Given the description of an element on the screen output the (x, y) to click on. 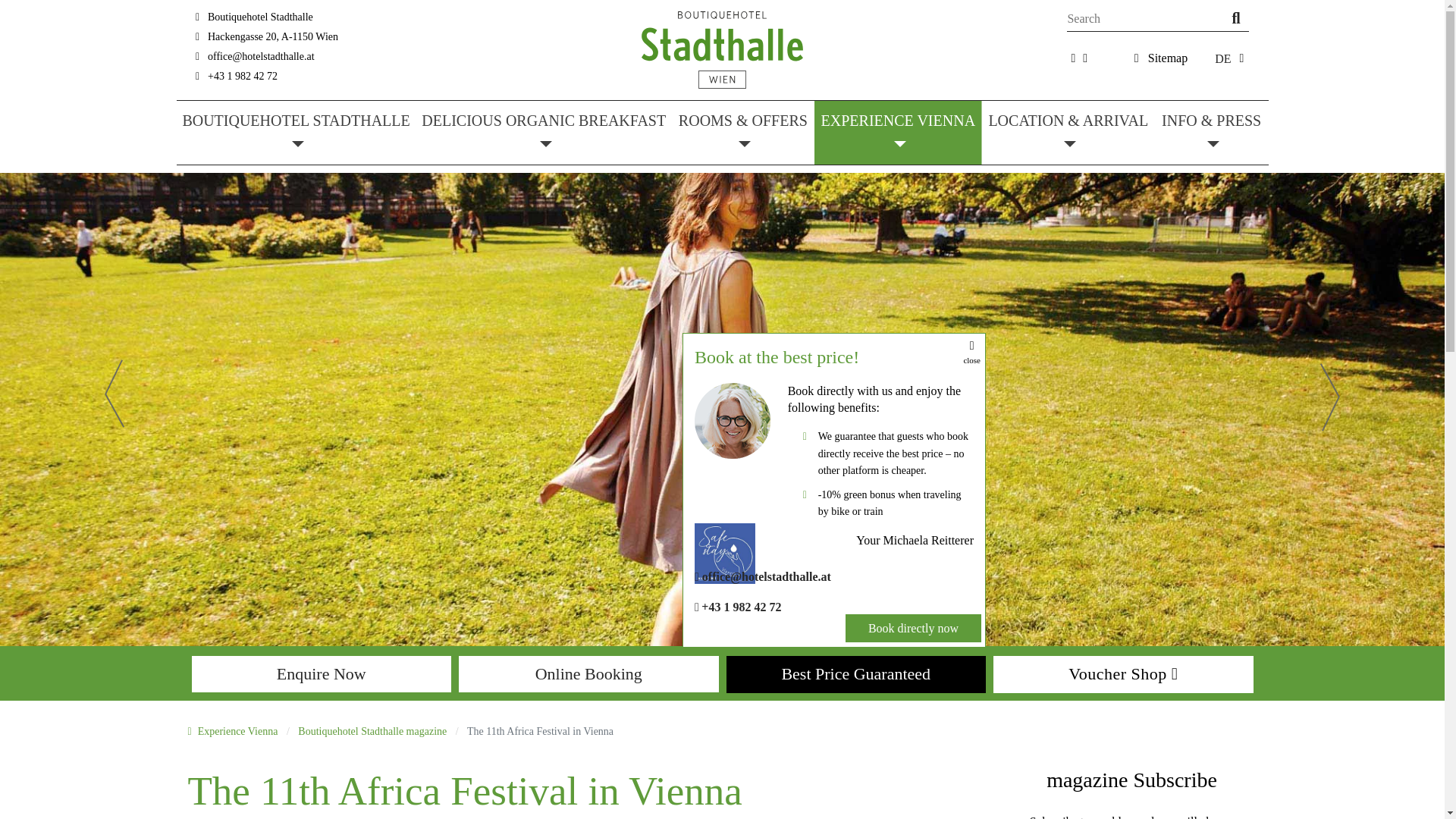
DE (1222, 58)
Boutiquehotel Stadthalle (722, 49)
DELICIOUS ORGANIC BREAKFAST (543, 131)
Facebook Boutiquehotel Stadthalle (1072, 58)
Search (1228, 15)
Instagram Boutiquehotel Stadthalle (1084, 58)
Boutiquehotel Stadthalle (295, 131)
Boutiquehotel Stadthalle (251, 16)
Boutiquehotel Stadthalle (722, 47)
BOUTIQUEHOTEL STADTHALLE (295, 131)
Sitemap (1168, 57)
